Given the description of an element on the screen output the (x, y) to click on. 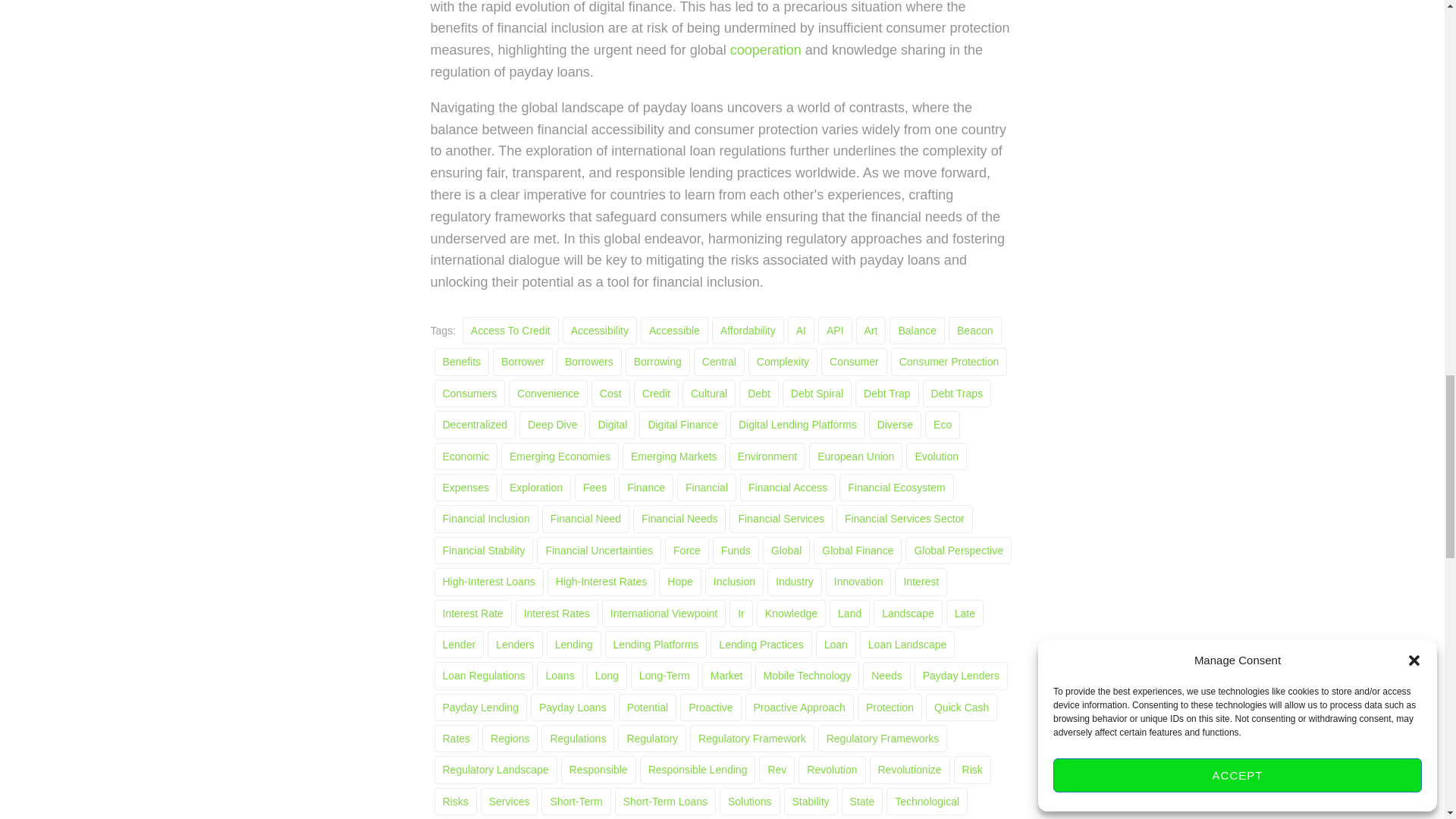
Posts tagged with cooperation (766, 49)
